Given the description of an element on the screen output the (x, y) to click on. 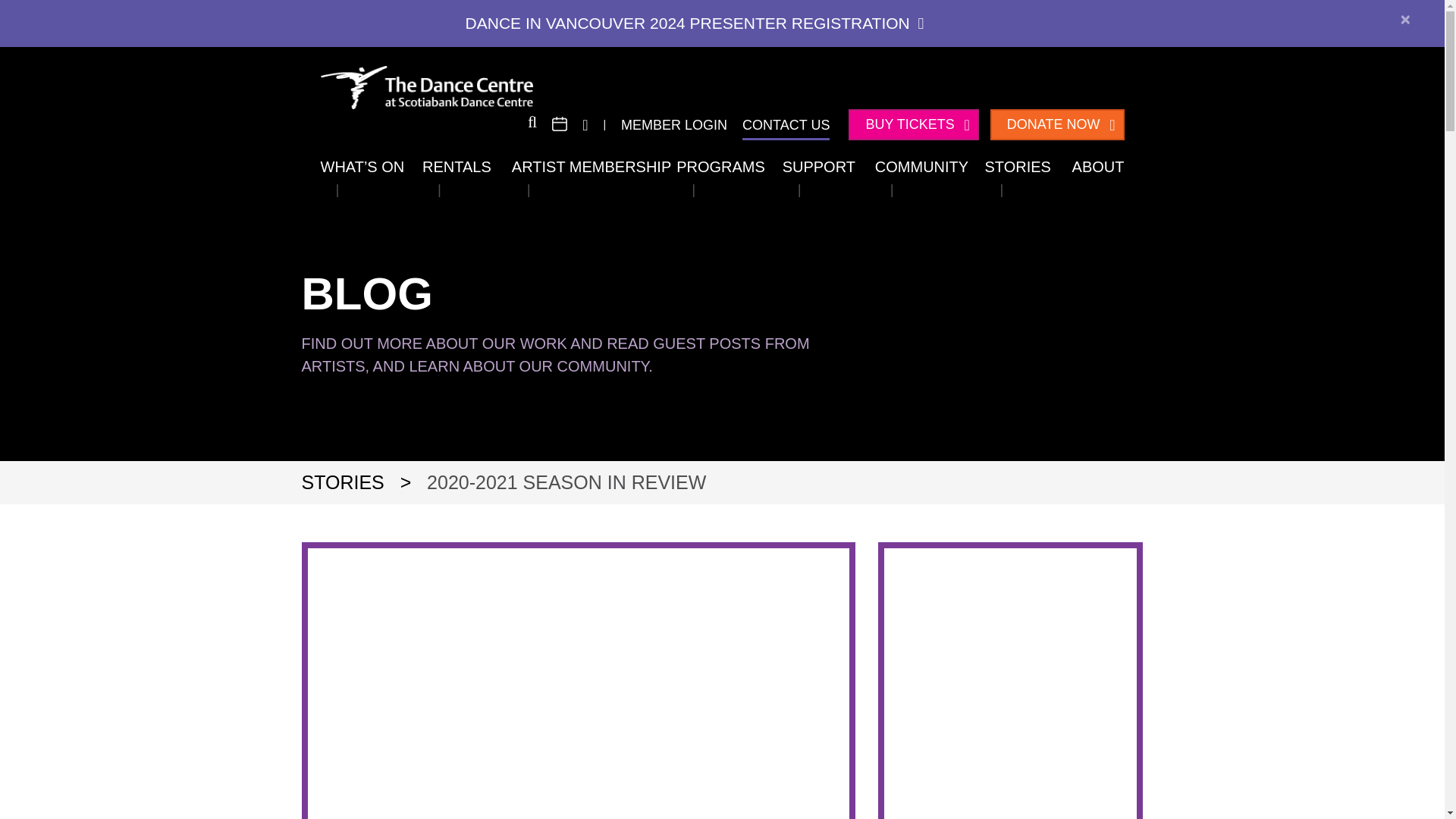
PROGRAMS (721, 166)
DANCE IN VANCOUVER 2024 PRESENTER REGISTRATION (694, 22)
MEMBER LOGIN (673, 124)
BUY TICKETS (913, 124)
RENTALS (457, 166)
CONTACT US (785, 124)
DONATE NOW (1057, 124)
ARTIST MEMBERSHIP (591, 166)
